Given the description of an element on the screen output the (x, y) to click on. 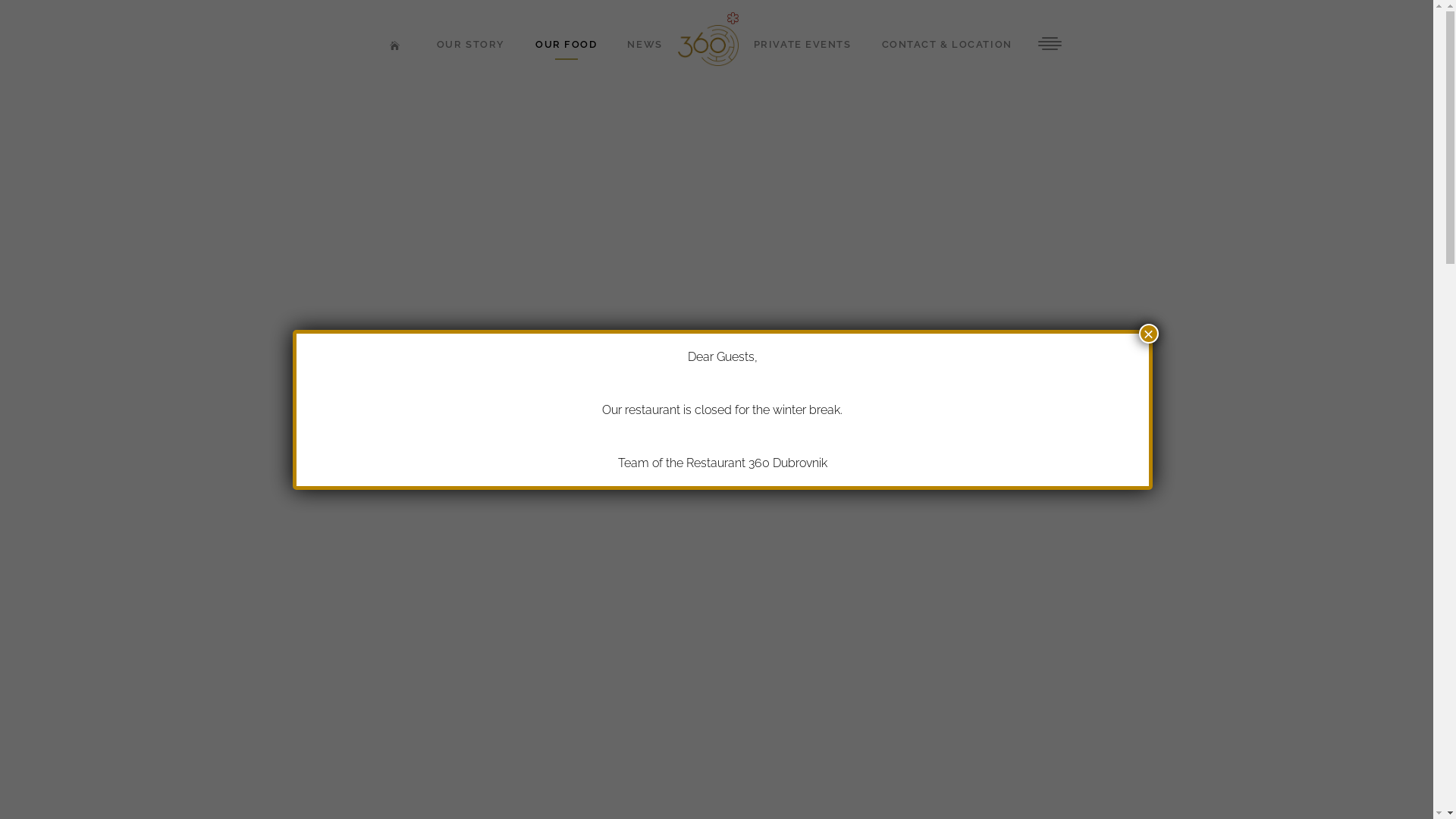
OUR FOOD Element type: text (565, 45)
CONTACT & LOCATION Element type: text (946, 45)
OUR STORY Element type: text (470, 45)
NEWS Element type: text (644, 45)
PRIVATE EVENTS Element type: text (802, 45)
